Given the description of an element on the screen output the (x, y) to click on. 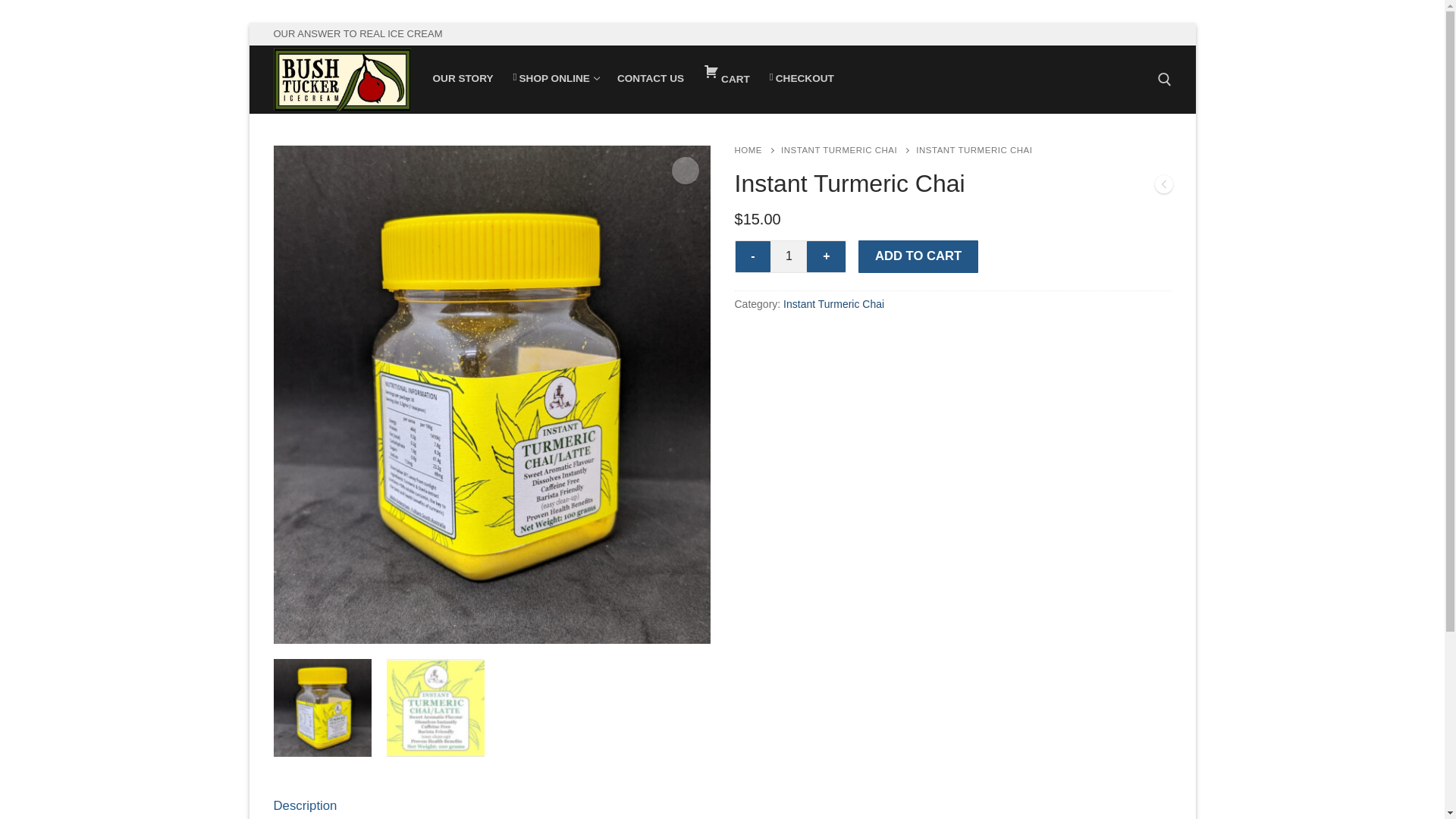
Skip to content (555, 77)
Description (753, 256)
CHECKOUT (304, 803)
HOME (802, 77)
CONTACT US (756, 149)
ADD TO CART (650, 77)
1 (917, 256)
Instant Turmeric Chai (788, 256)
CART (833, 304)
INSTANT TURMERIC CHAI (727, 79)
OUR STORY (847, 149)
